Given the description of an element on the screen output the (x, y) to click on. 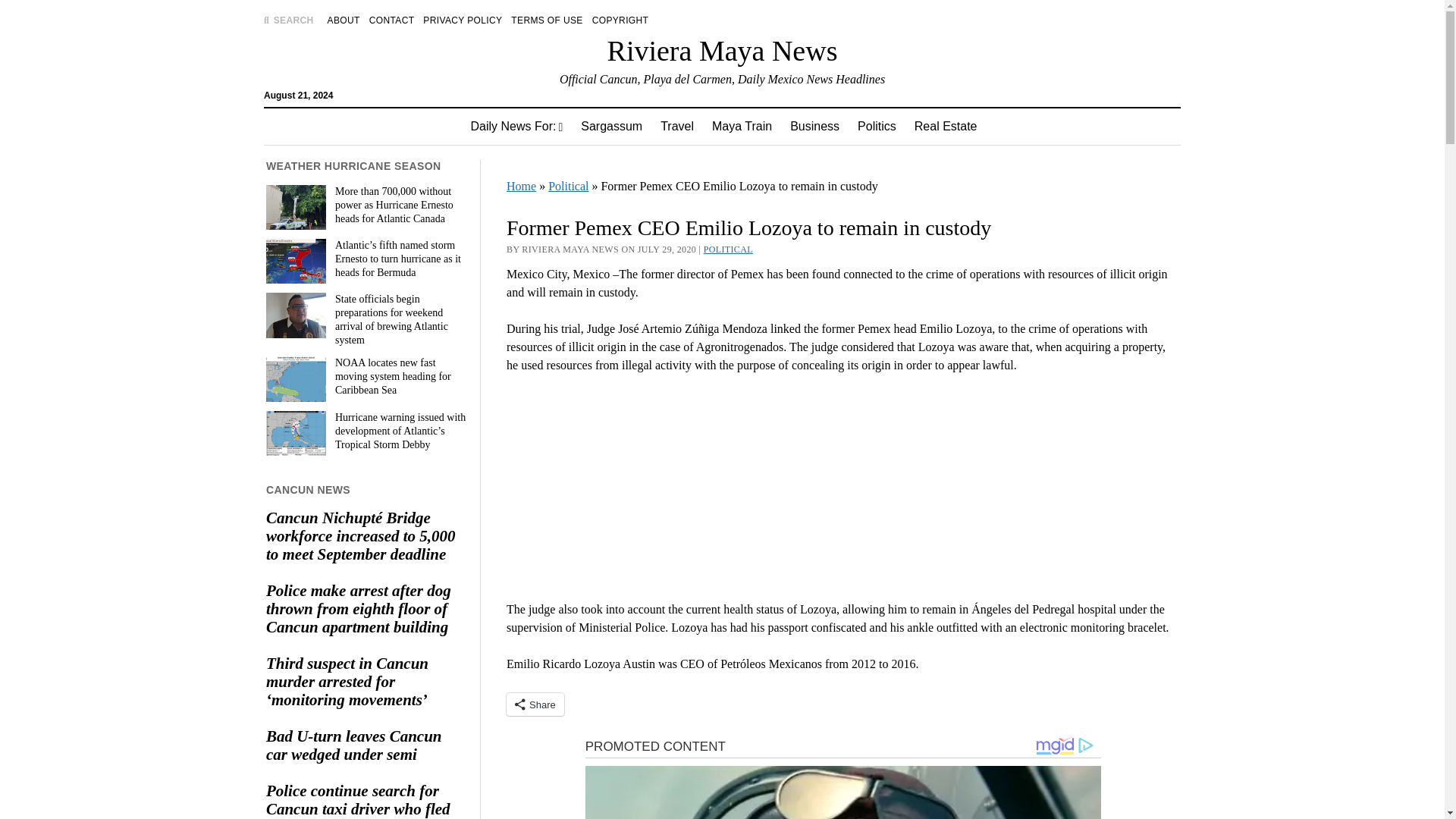
Daily News For: (516, 126)
SEARCH (288, 20)
Travel (676, 126)
Business (814, 126)
ABOUT (343, 20)
Riviera Maya News (722, 50)
PRIVACY POLICY (462, 20)
Sargassum (611, 126)
TERMS OF USE (546, 20)
COPYRIGHT (620, 20)
